Given the description of an element on the screen output the (x, y) to click on. 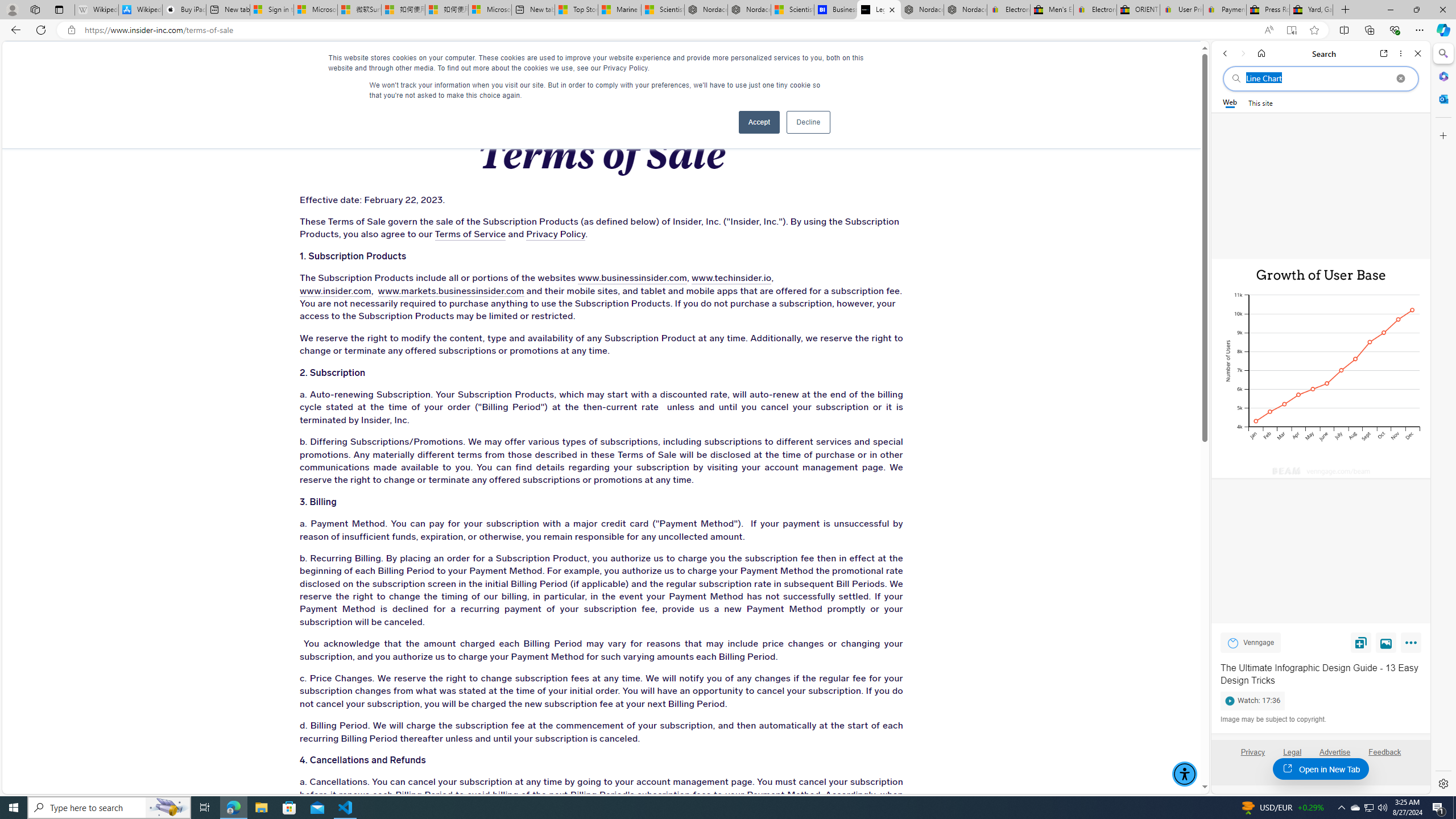
Accept (759, 121)
WHAT WE DO (260, 62)
CONTACT US (942, 62)
NEWS (730, 62)
